Given the description of an element on the screen output the (x, y) to click on. 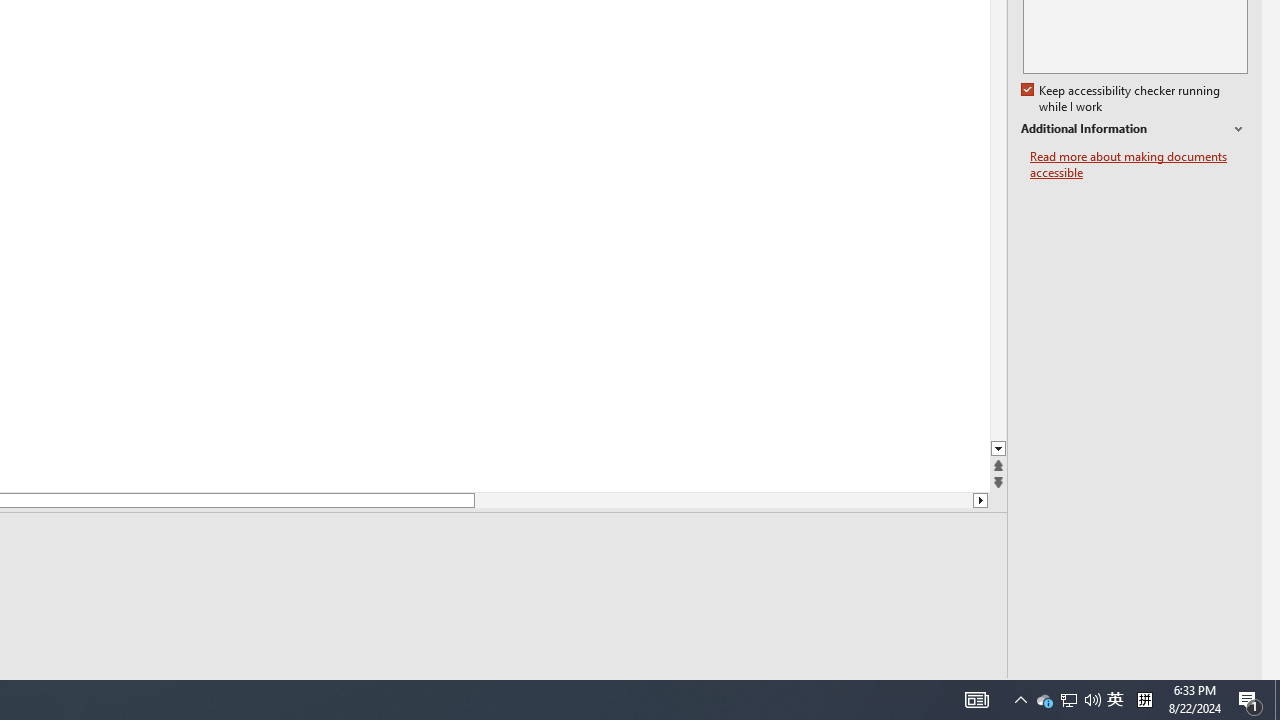
Menu On (892, 691)
Slide Show Next On (924, 691)
Read more about making documents accessible (1139, 164)
Slide Show Previous On (860, 691)
